Given the description of an element on the screen output the (x, y) to click on. 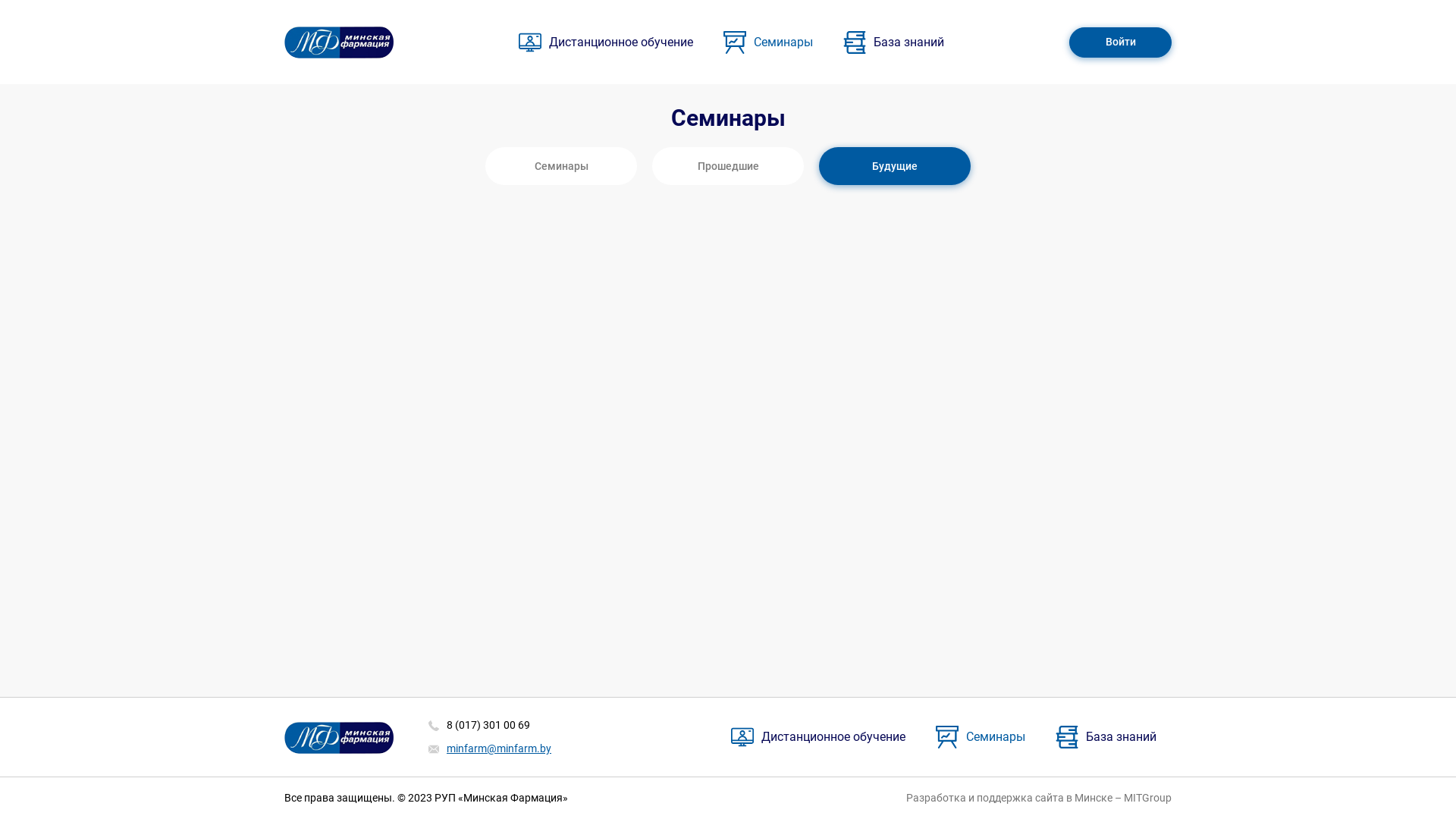
minfarm@minfarm.by Element type: text (498, 748)
8 (017) 301 00 69 Element type: text (488, 724)
